Given the description of an element on the screen output the (x, y) to click on. 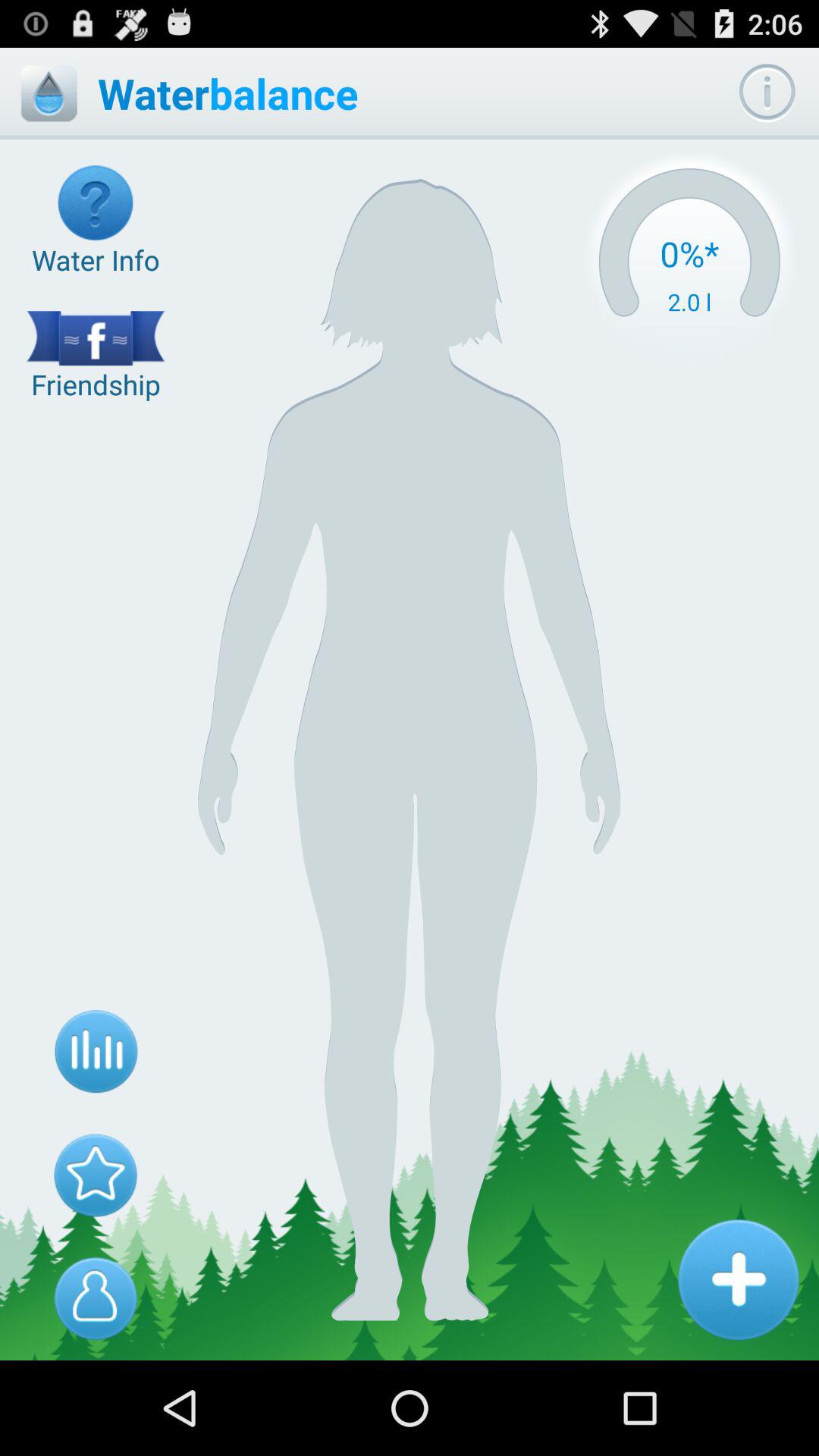
select the icon next to waterbalance icon (689, 261)
